Given the description of an element on the screen output the (x, y) to click on. 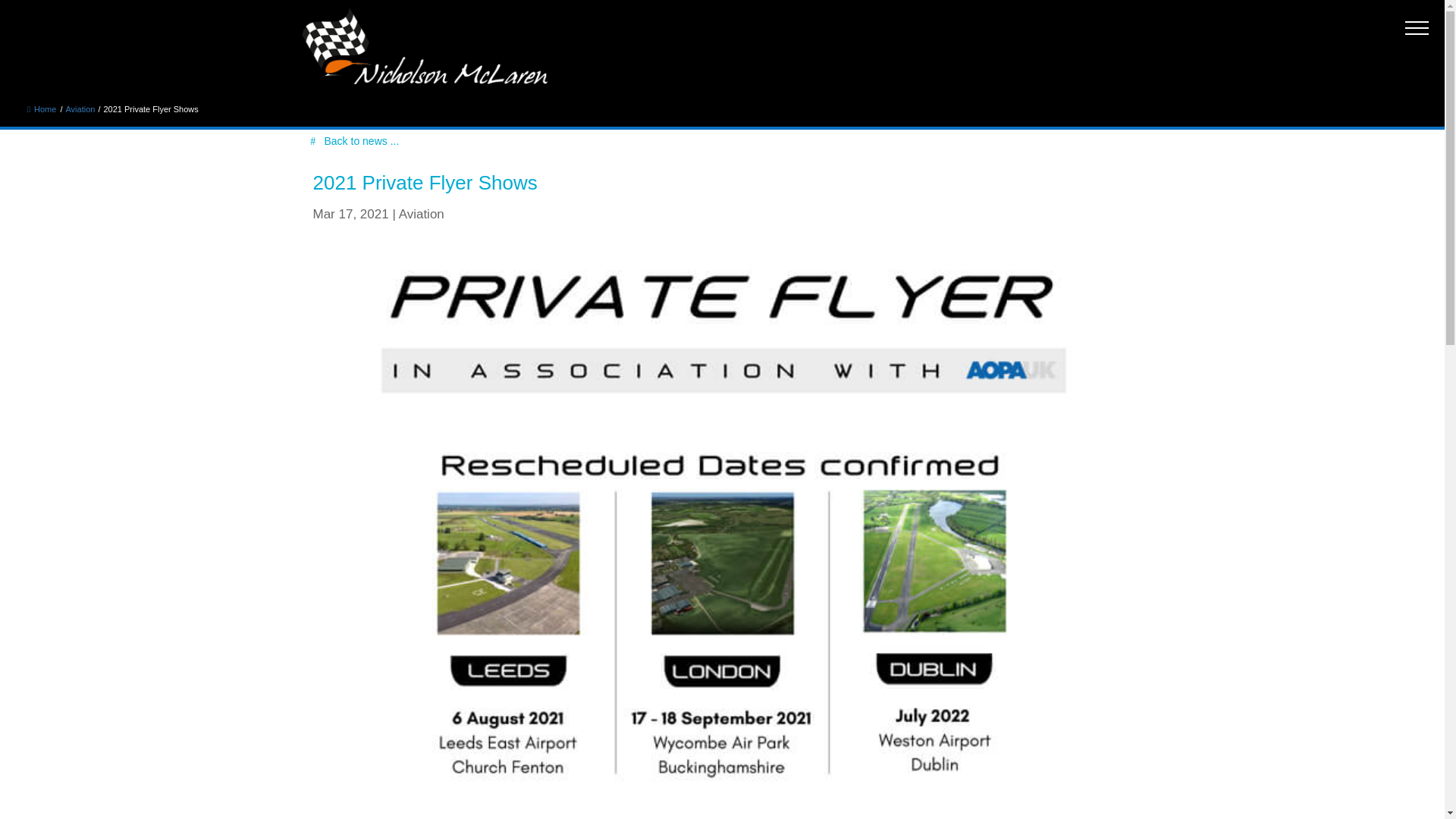
Home (41, 108)
Aviation (79, 108)
Category Name (79, 108)
Back to news ... (359, 141)
Aviation (421, 214)
2021 Private Flyer Shows (150, 108)
Search (37, 9)
